Given the description of an element on the screen output the (x, y) to click on. 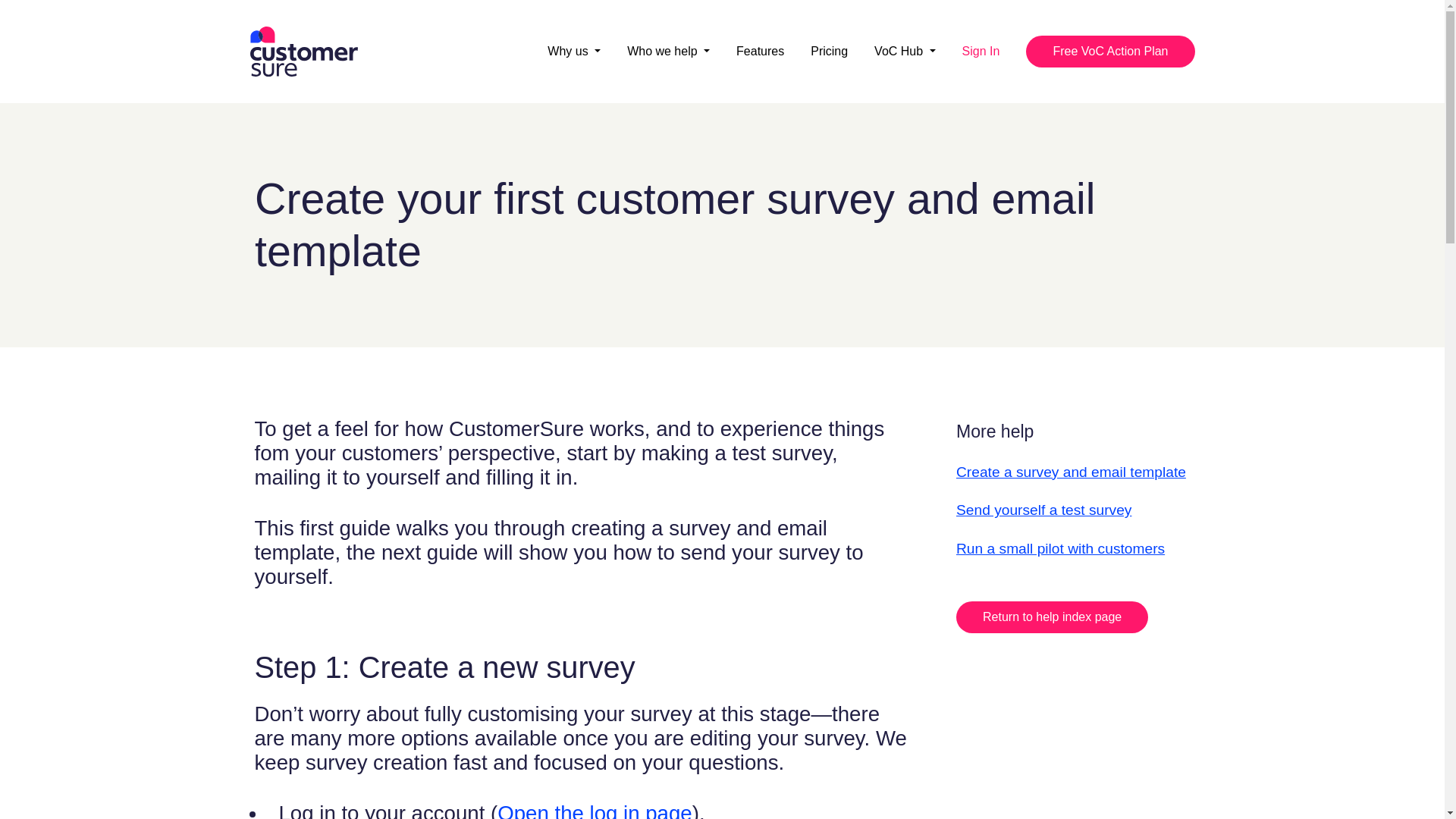
Pricing (828, 51)
VoC Hub (904, 51)
Why us (573, 51)
Sign In (981, 51)
Features (760, 51)
Who we help (668, 51)
